Given the description of an element on the screen output the (x, y) to click on. 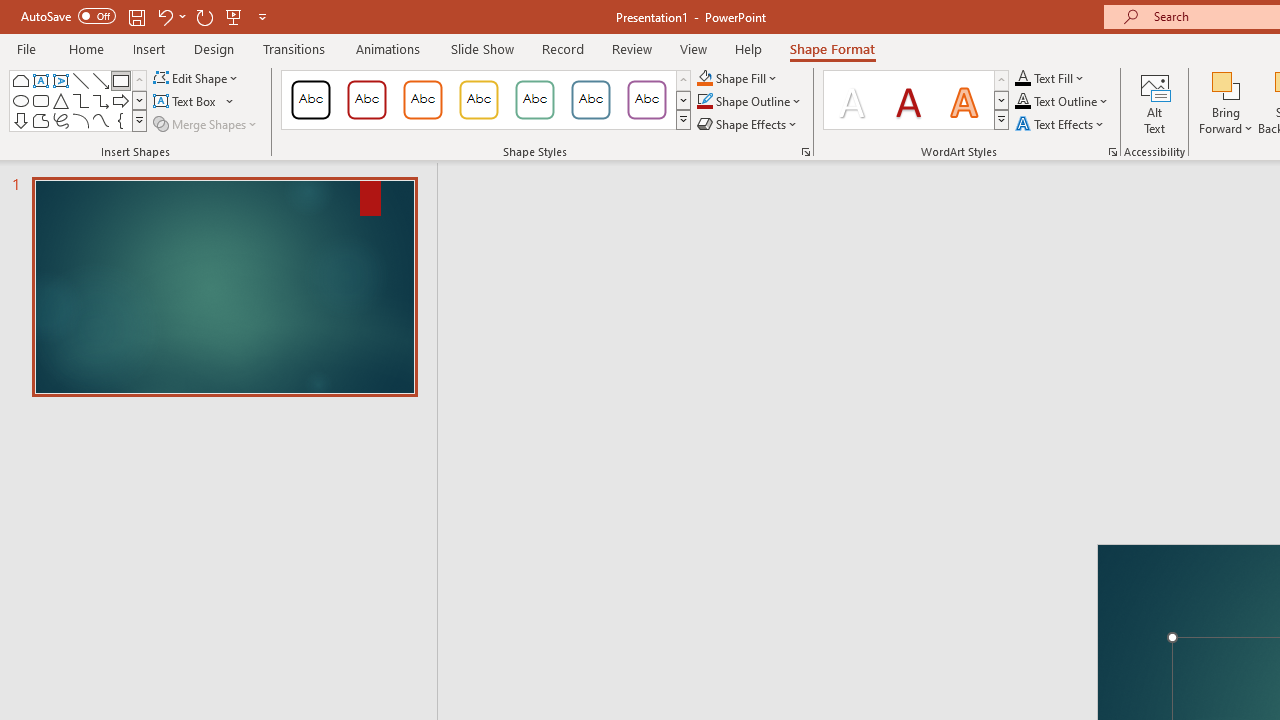
Colored Outline - Dark Red, Accent 1 (367, 100)
Quick Access Toolbar (145, 16)
Shape Fill Orange, Accent 2 (704, 78)
Arrow: Right (120, 100)
Row up (1001, 79)
File Tab (26, 48)
Text Outline (1062, 101)
Colored Outline - Gold, Accent 3 (478, 100)
Freeform: Scribble (60, 120)
Rectangle (120, 80)
Freeform: Shape (40, 120)
Isosceles Triangle (60, 100)
Review (631, 48)
AutomationID: TextStylesGallery (916, 99)
